Given the description of an element on the screen output the (x, y) to click on. 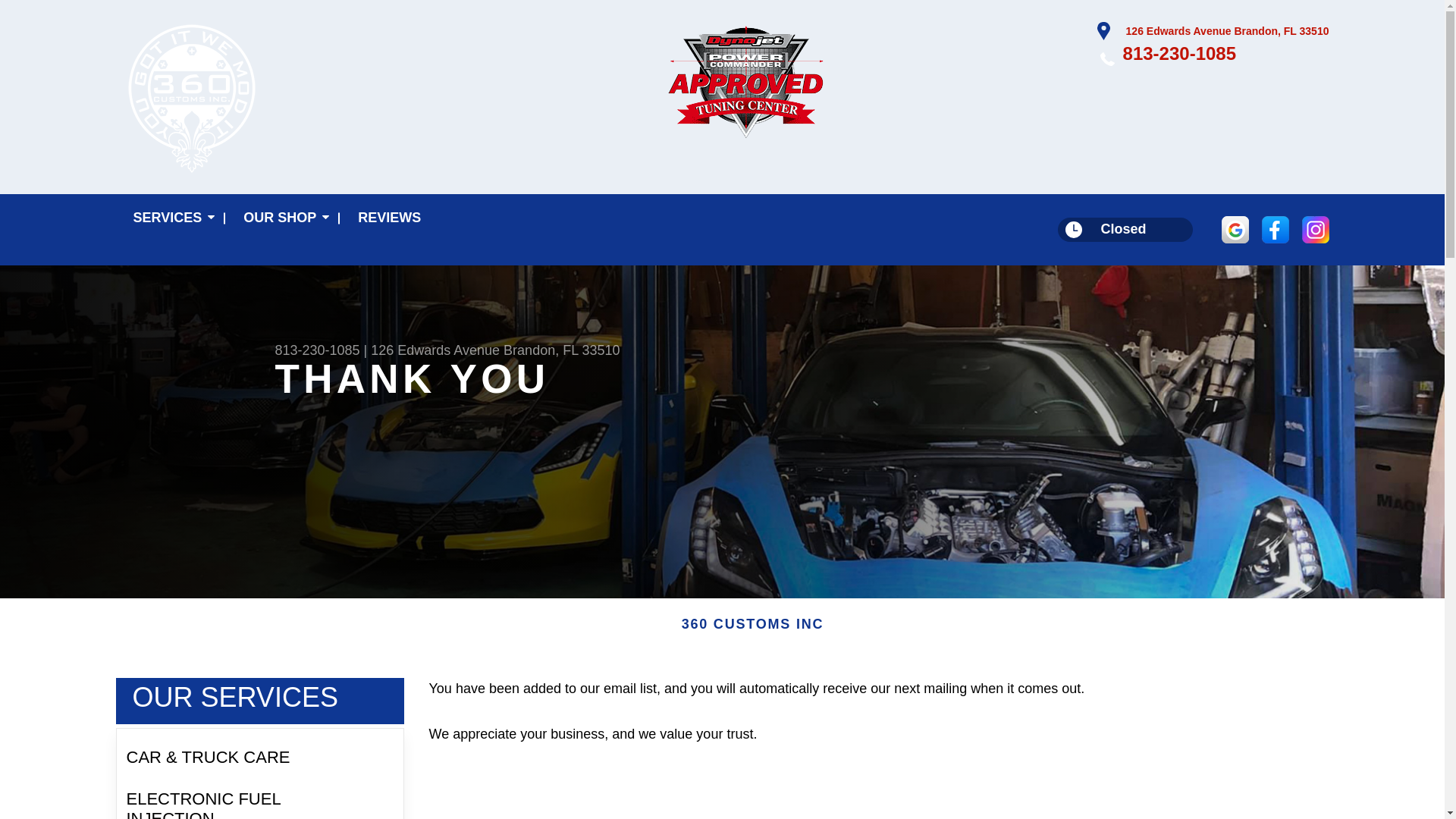
OUR SHOP (282, 218)
813-230-1085 (1179, 53)
Closed (1125, 229)
REVIEWS (389, 218)
813-230-1085 (317, 350)
SERVICES (170, 218)
